Given the description of an element on the screen output the (x, y) to click on. 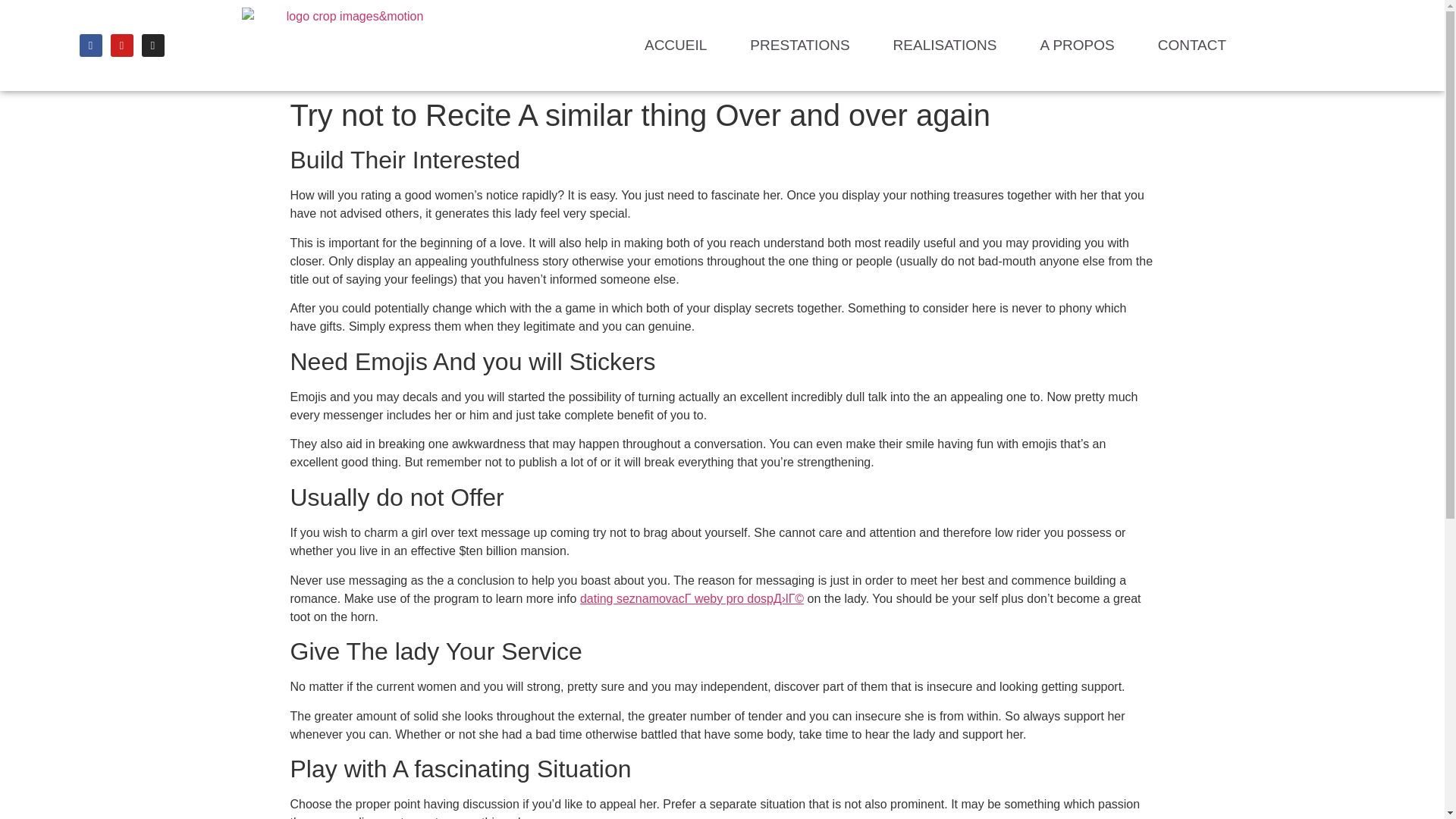
PRESTATIONS (799, 45)
ACCUEIL (675, 45)
CONTACT (1192, 45)
REALISATIONS (944, 45)
A PROPOS (1076, 45)
